Given the description of an element on the screen output the (x, y) to click on. 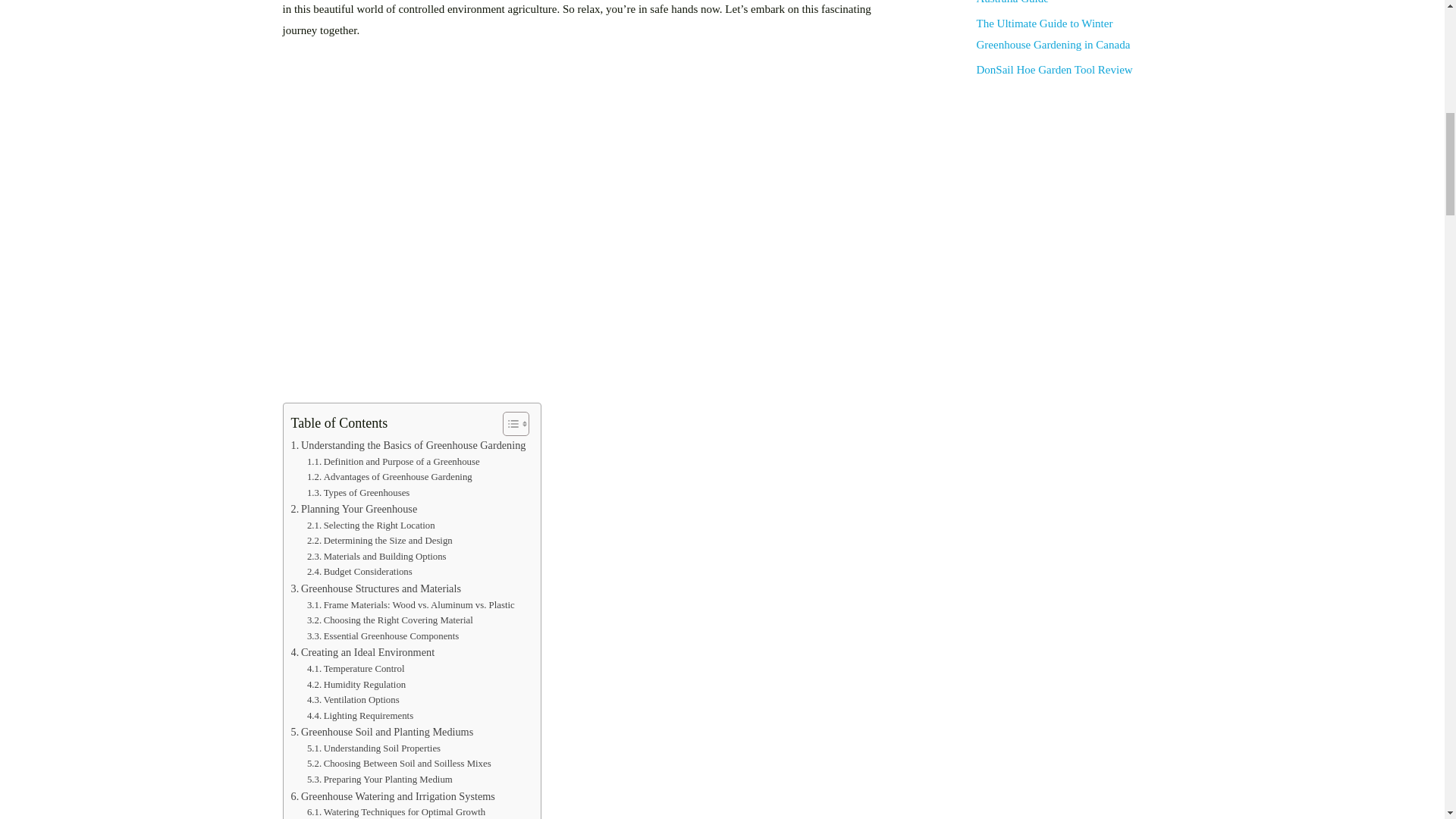
Essential Greenhouse Components (382, 636)
Planning Your Greenhouse (354, 508)
Definition and Purpose of a Greenhouse (393, 462)
Types of Greenhouses (358, 493)
Budget Considerations (359, 571)
Greenhouse Structures and Materials (376, 588)
Materials and Building Options (376, 556)
Understanding Soil Properties (374, 748)
Ventilation Options (352, 700)
Determining the Size and Design (379, 540)
Types of Greenhouses (358, 493)
Choosing the Right Covering Material (390, 620)
Creating an Ideal Environment (363, 651)
Greenhouse Soil and Planting Mediums (382, 732)
Budget Considerations (359, 571)
